Given the description of an element on the screen output the (x, y) to click on. 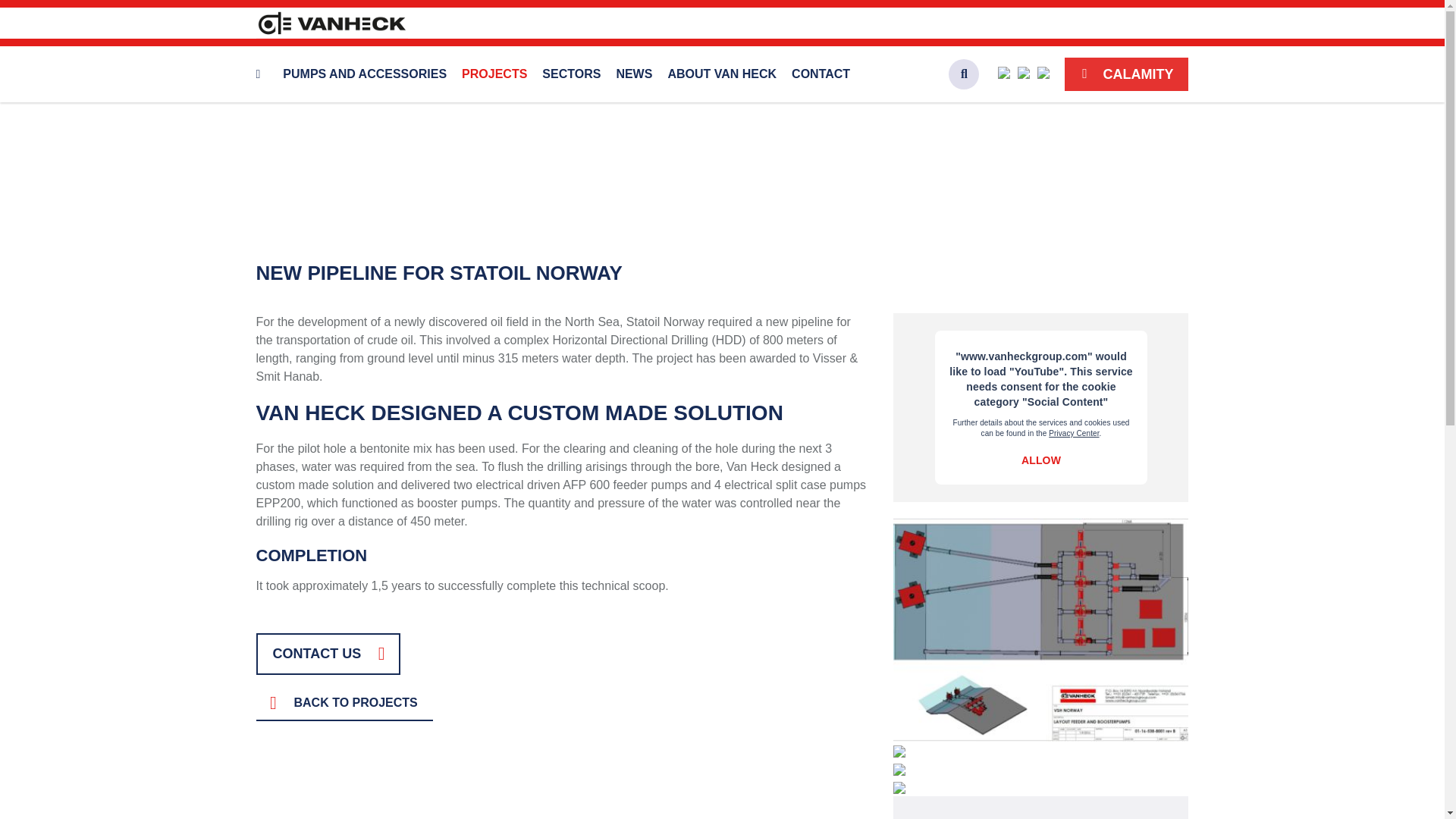
PROJECTS (494, 73)
Van Heck Group (331, 22)
NEWS (633, 73)
SECTORS (571, 73)
Van Heck en een nieuwe pijplijn voor Statoil Noorwegen (1041, 407)
CALAMITY (1126, 73)
ABOUT VAN HECK (721, 73)
Contact us (563, 653)
PUMPS AND ACCESSORIES (364, 73)
CONTACT (820, 73)
